Given the description of an element on the screen output the (x, y) to click on. 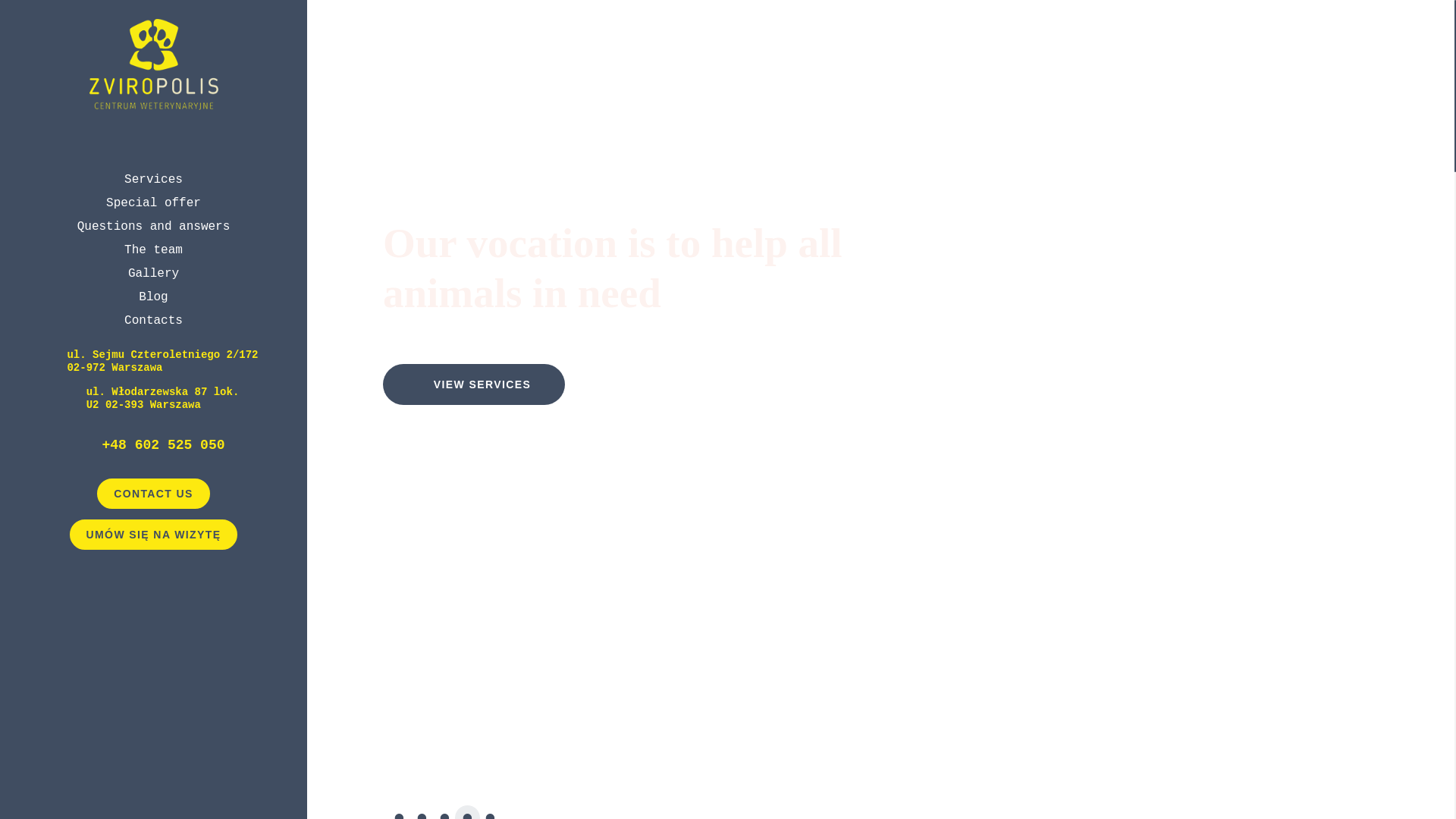
2 (417, 812)
Blog (152, 296)
CONTACT US (153, 493)
3 (439, 812)
Gallery (153, 273)
VIEW SERVICES (473, 383)
The team (153, 250)
Contacts (153, 320)
Questions and answers (153, 226)
Services (153, 179)
5 (485, 812)
4 (462, 812)
Special offer (153, 202)
1 (394, 812)
